Given the description of an element on the screen output the (x, y) to click on. 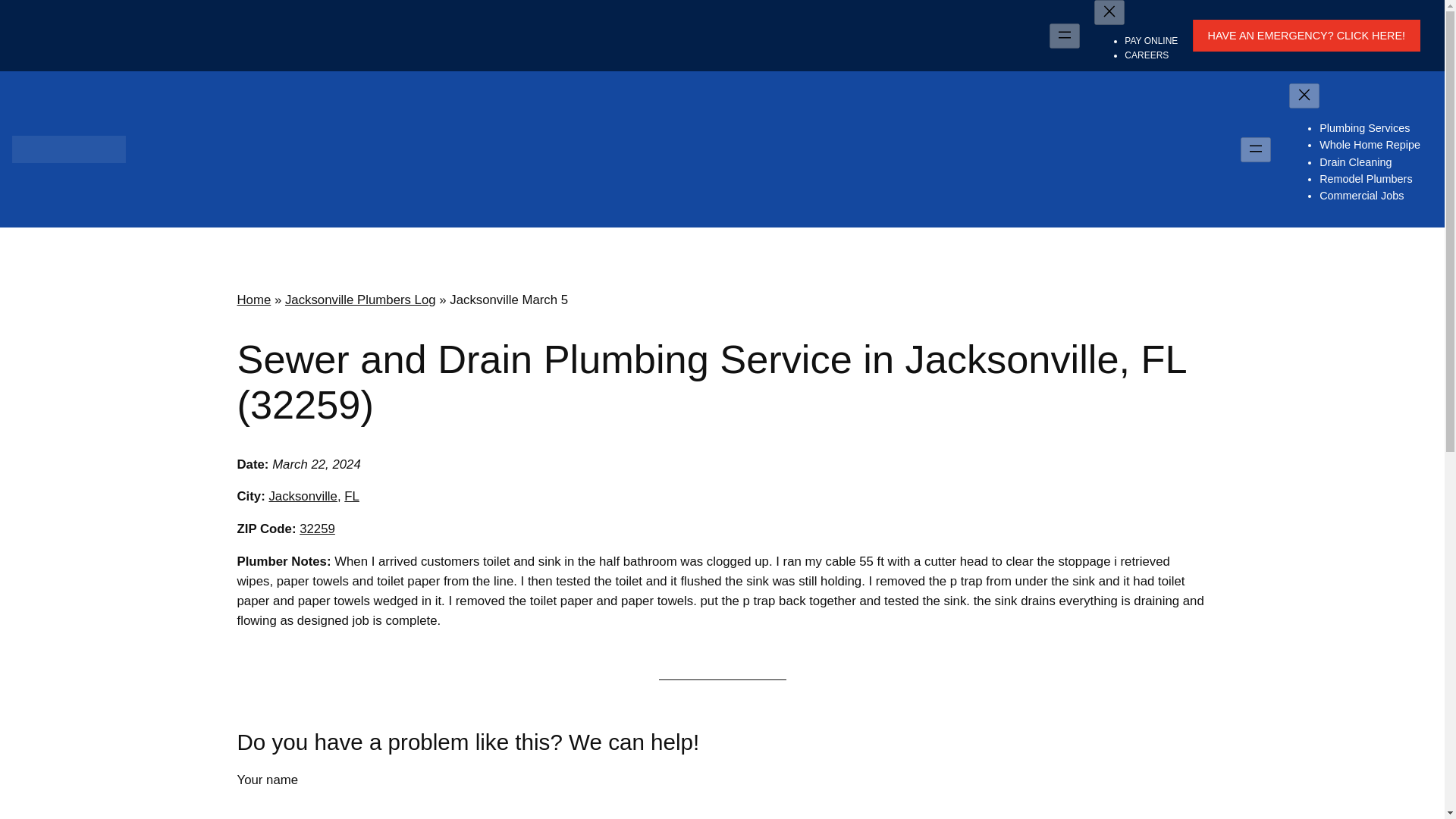
Drain Cleaning (1355, 162)
HAVE AN EMERGENCY? CLICK HERE! (1306, 35)
Whole Home Repipe (1370, 144)
32259 (316, 528)
Jacksonville (301, 495)
Betros Plumbing serves 32259 (316, 528)
Betros Plumbing serves Jacksonville (301, 495)
Jacksonville Plumbers Log (360, 299)
Betros Plumbing serves FL (351, 495)
Home (252, 299)
